Given the description of an element on the screen output the (x, y) to click on. 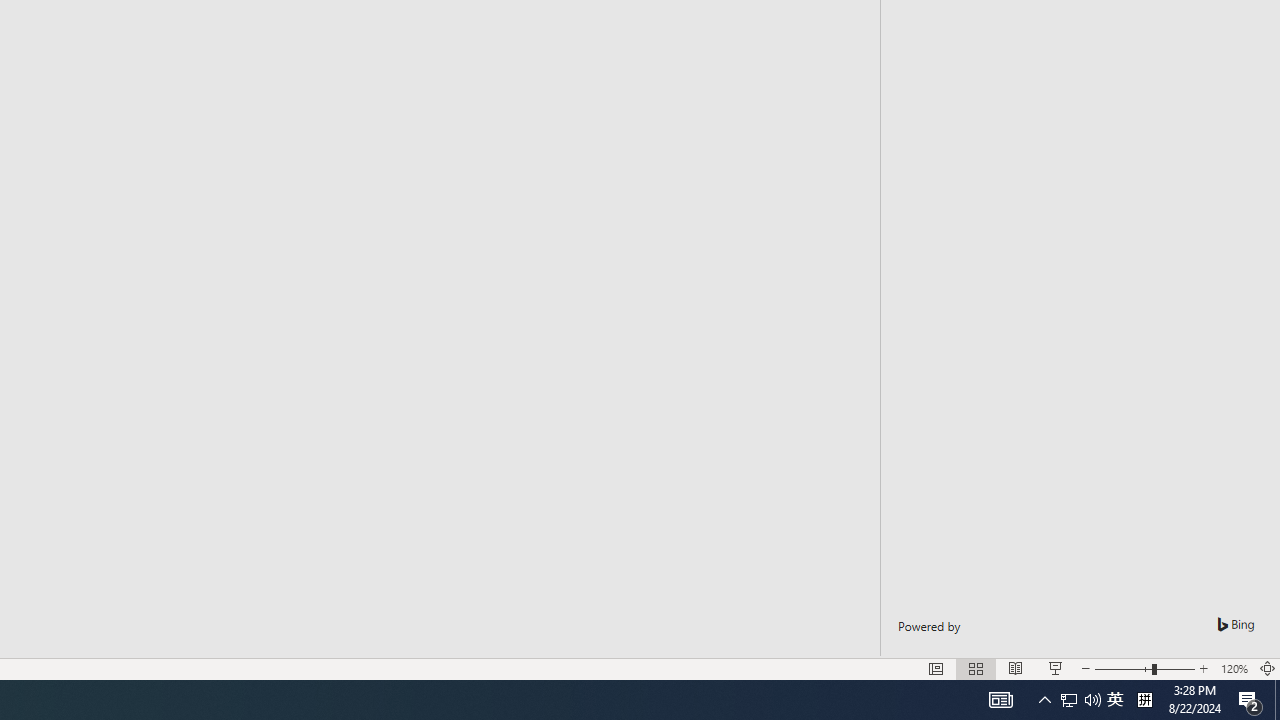
Zoom 120% (1234, 668)
